Given the description of an element on the screen output the (x, y) to click on. 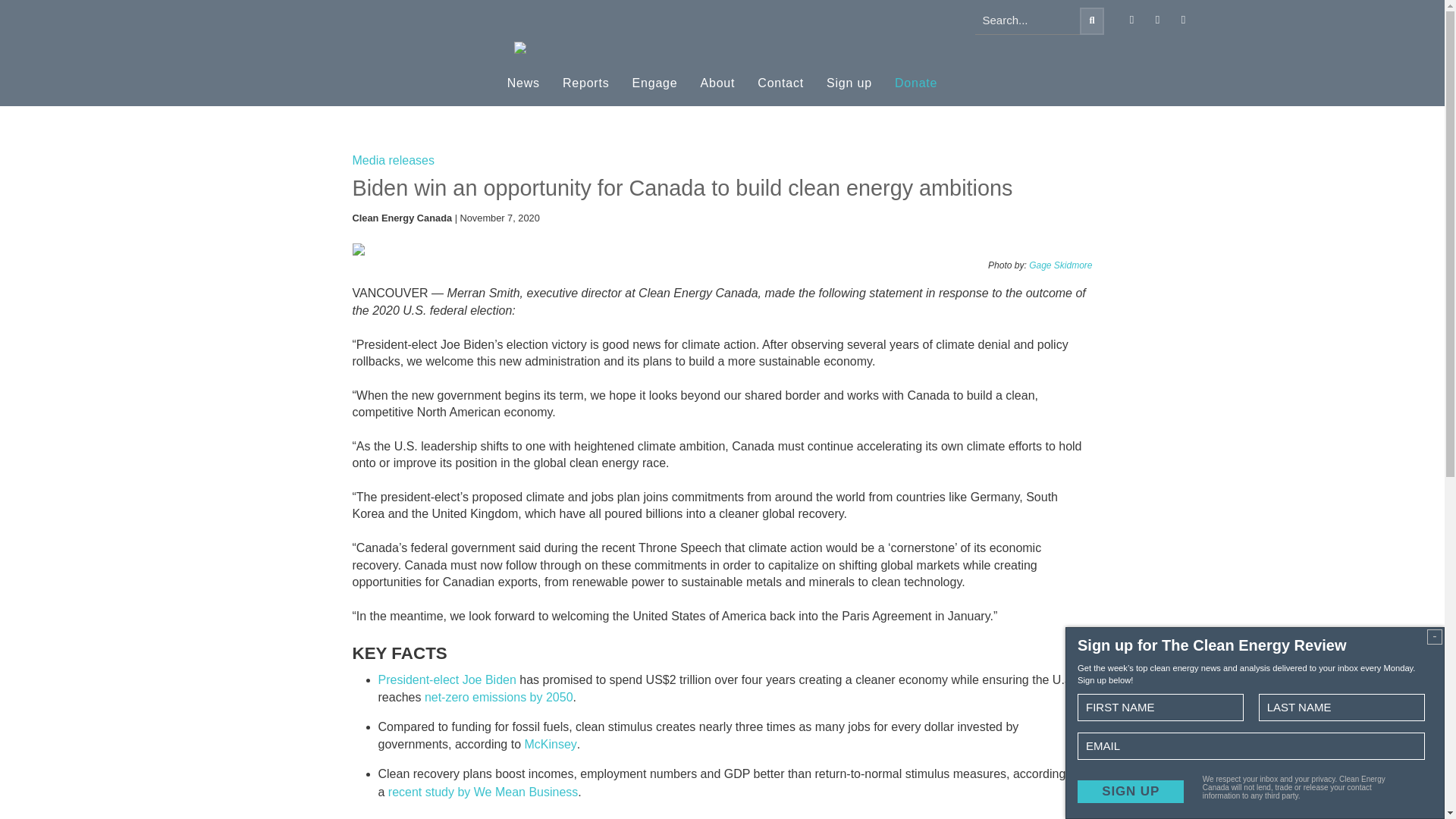
News (523, 82)
Engage (654, 82)
Reports (585, 82)
